Given the description of an element on the screen output the (x, y) to click on. 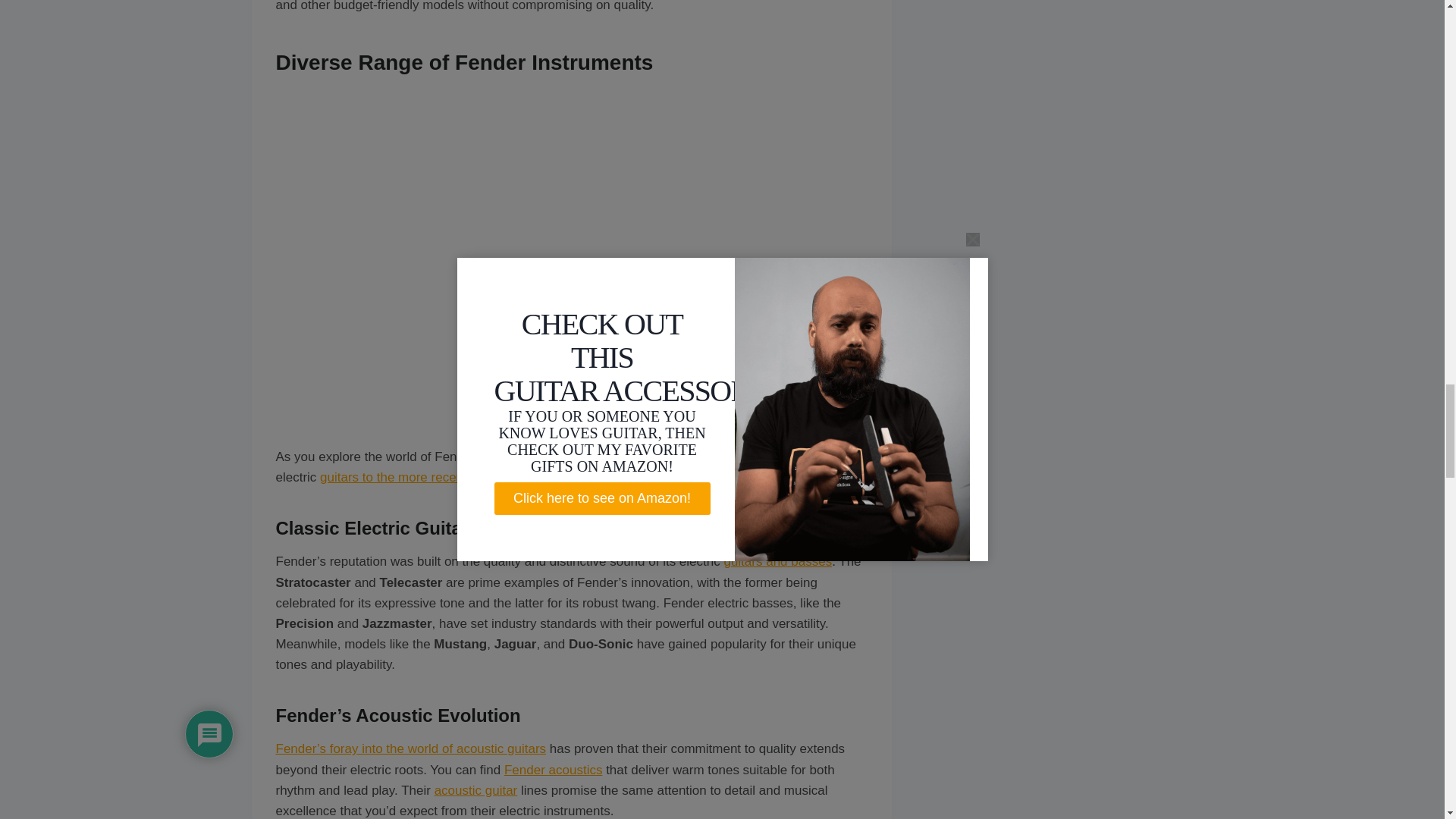
guitars and basses (777, 561)
acoustic guitar (475, 789)
guitars to the more recent additions to the acoustic (464, 477)
Fender acoustics (552, 769)
